Given the description of an element on the screen output the (x, y) to click on. 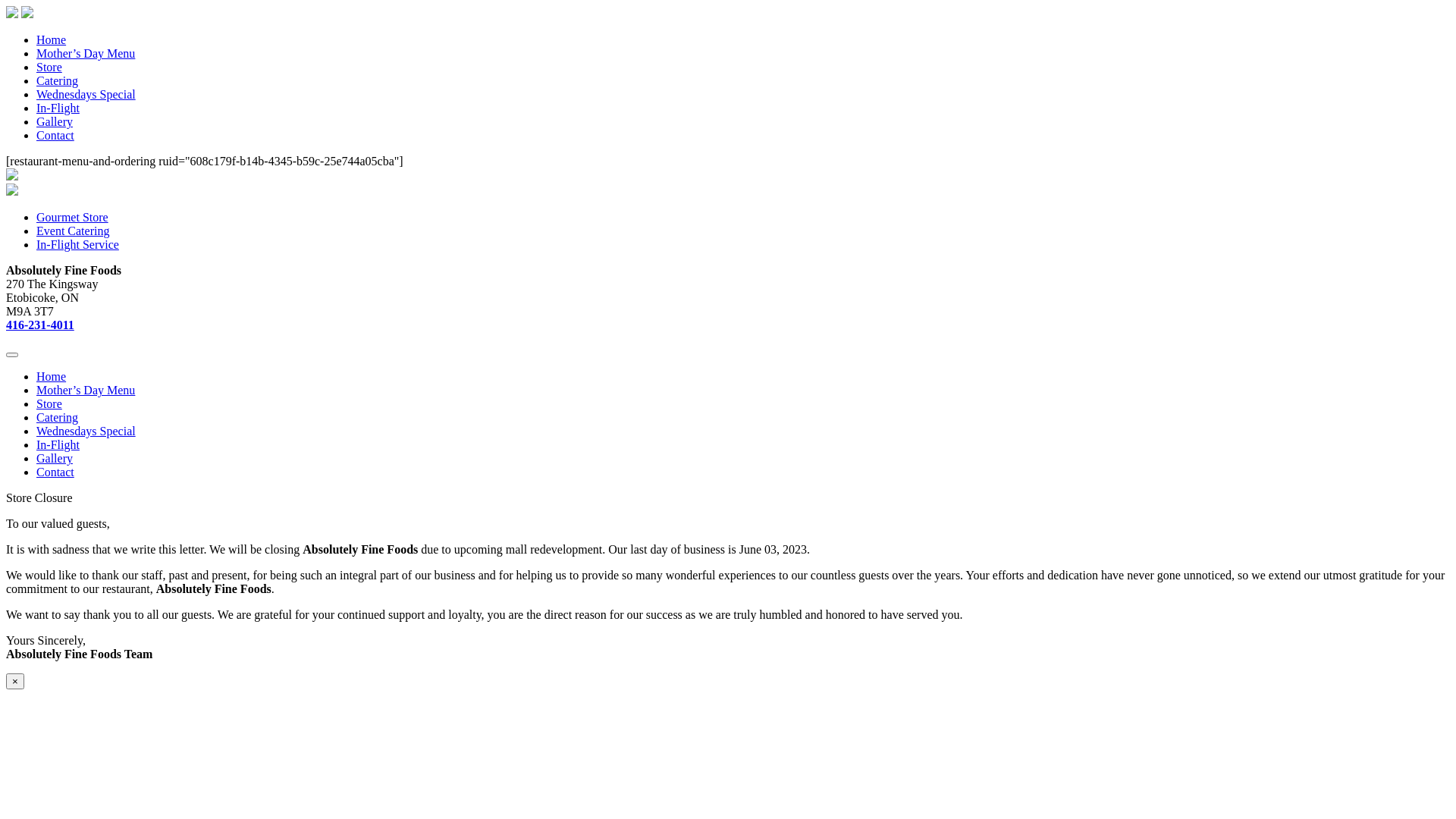
Store Element type: text (49, 403)
Gourmet Store Element type: text (72, 216)
In-Flight Element type: text (57, 107)
416-231-4011 Element type: text (40, 324)
Contact Element type: text (55, 134)
Contact Element type: text (55, 471)
Gallery Element type: text (54, 457)
Wednesdays Special Element type: text (85, 93)
In-Flight Service Element type: text (77, 244)
Gallery Element type: text (54, 121)
Home Element type: text (50, 376)
Store Element type: text (49, 66)
Home Element type: text (50, 39)
In-Flight Element type: text (57, 444)
Catering Element type: text (57, 80)
Wednesdays Special Element type: text (85, 430)
Catering Element type: text (57, 417)
Event Catering Element type: text (72, 230)
